Given the description of an element on the screen output the (x, y) to click on. 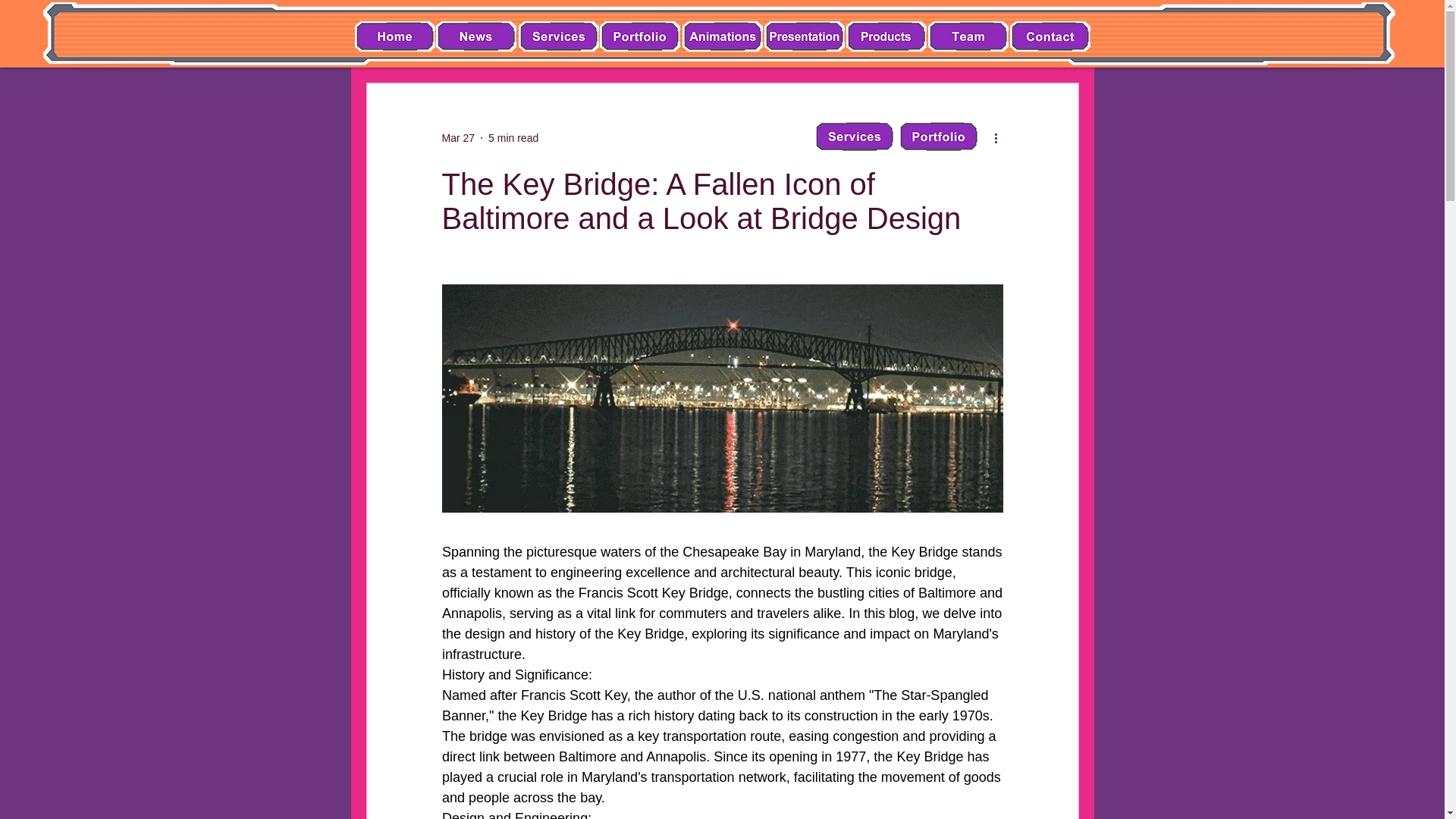
Contact (1050, 36)
Team (968, 36)
Presentation (803, 36)
Services (854, 136)
Services (474, 36)
Portfolio (938, 136)
5 min read (512, 137)
Animations (722, 36)
Presentation (886, 36)
Services (557, 36)
